Given the description of an element on the screen output the (x, y) to click on. 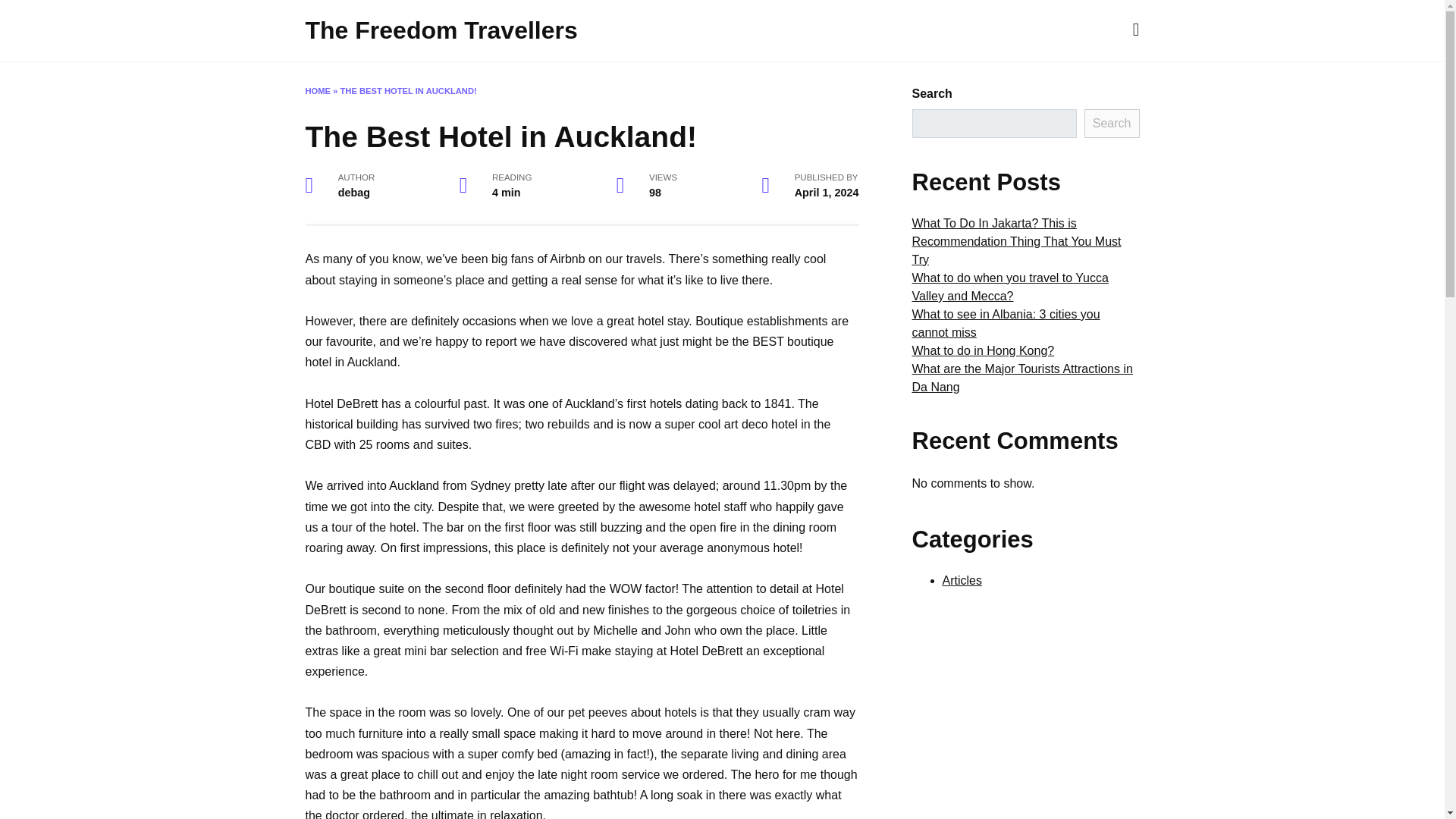
What to do when you travel to Yucca Valley and Mecca? (1009, 286)
Search (1112, 123)
HOME (317, 90)
What are the Major Tourists Attractions in Da Nang (1021, 377)
The Freedom Travellers (440, 30)
What to see in Albania: 3 cities you cannot miss (1005, 323)
Articles (961, 580)
What to do in Hong Kong? (982, 350)
